Given the description of an element on the screen output the (x, y) to click on. 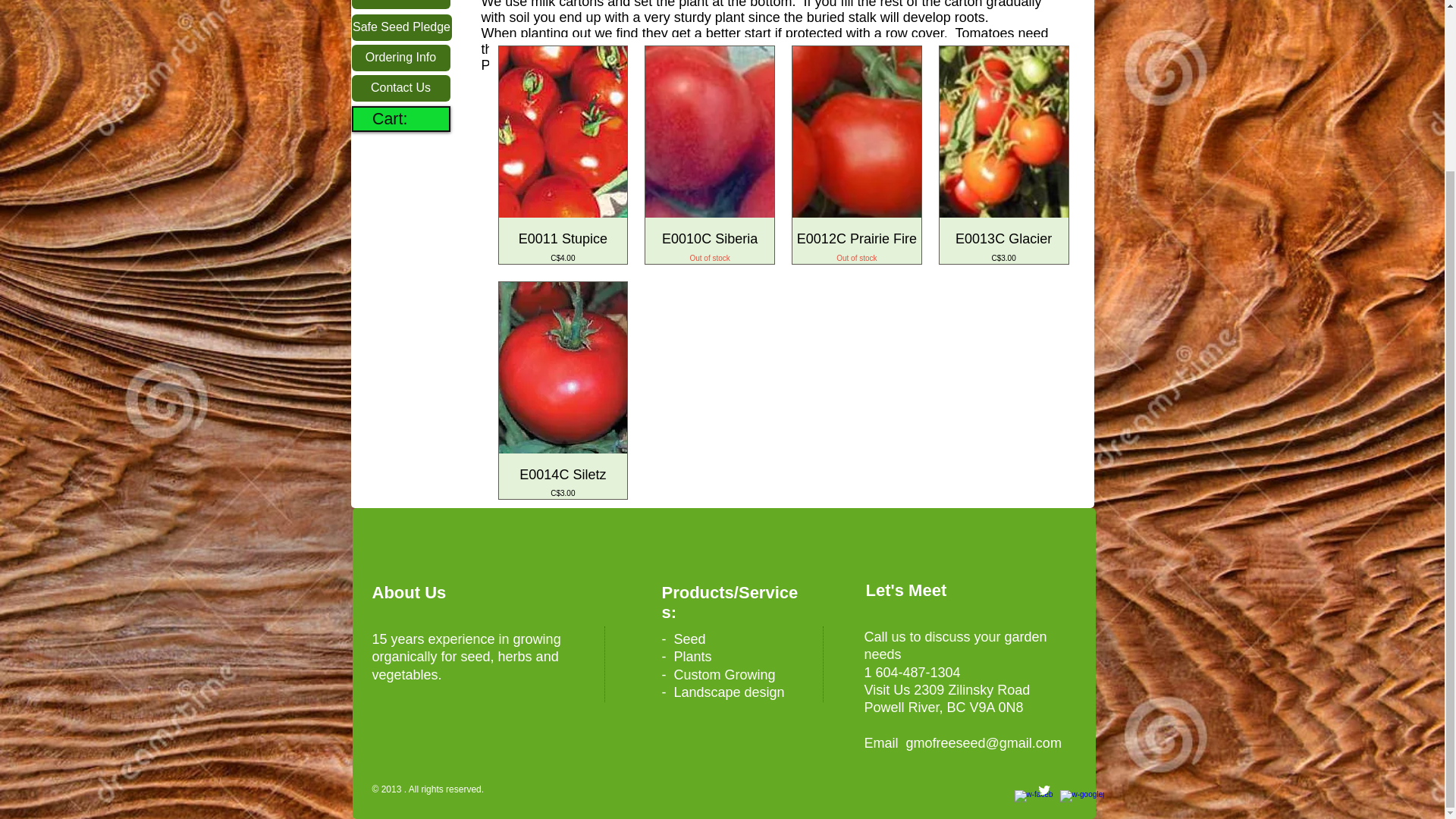
Ordering Info (400, 58)
Cart: (401, 117)
Contact Us (400, 88)
Safe Seed Pledge (401, 27)
Cart: (401, 117)
About Us (856, 246)
